Given the description of an element on the screen output the (x, y) to click on. 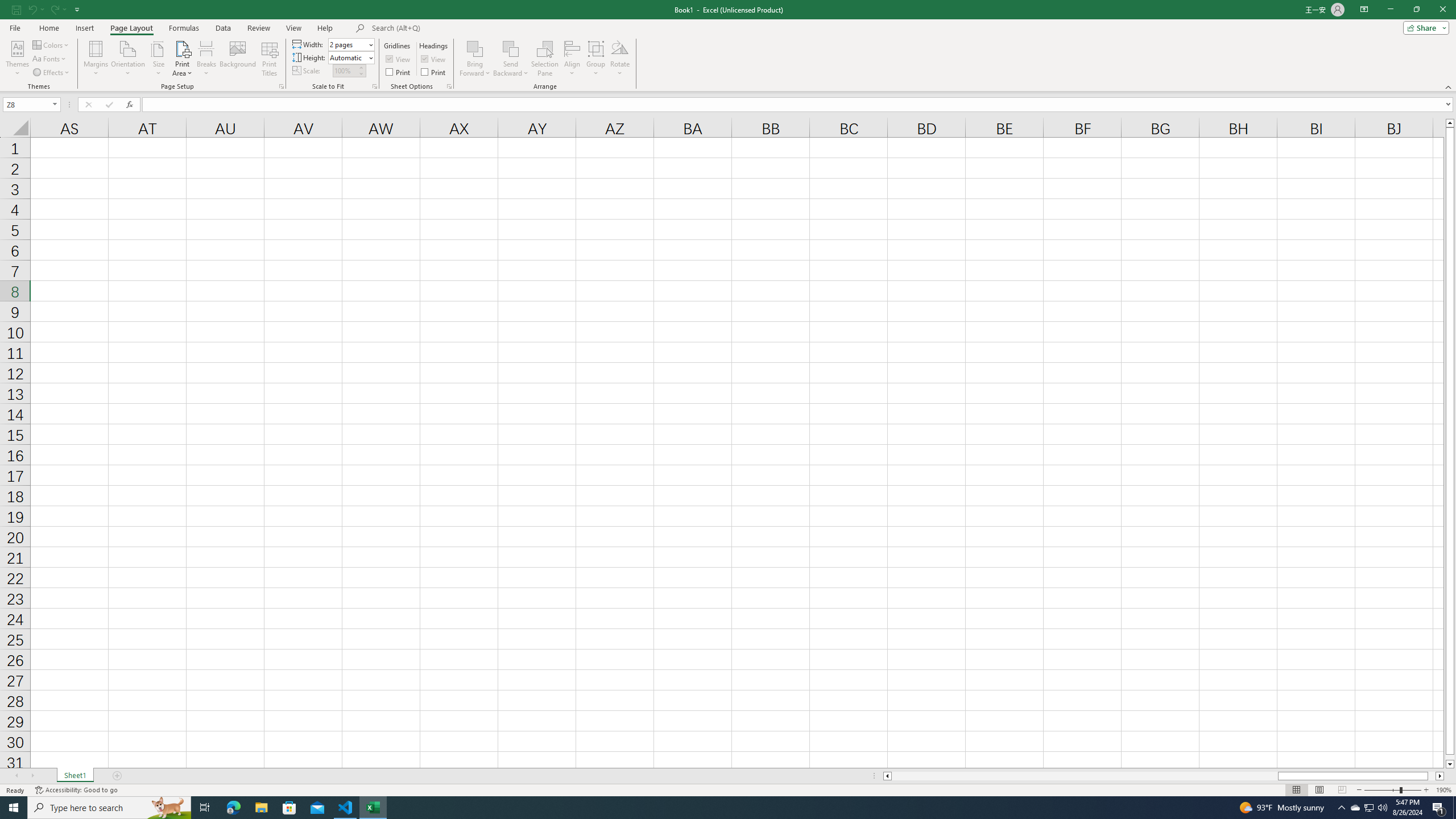
Fonts (49, 58)
Bring Forward (475, 58)
Height (347, 57)
